Given the description of an element on the screen output the (x, y) to click on. 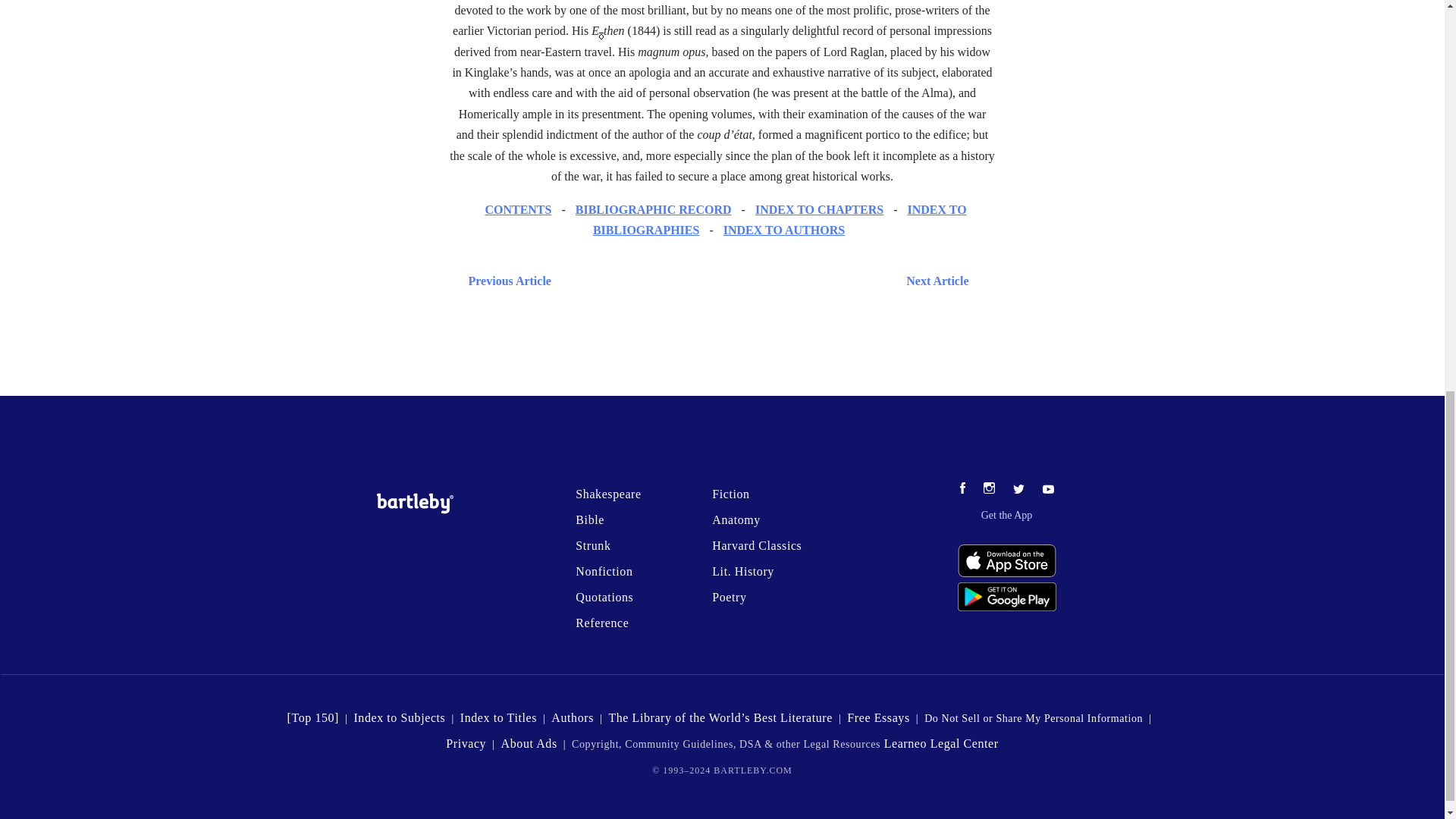
Strunk (592, 545)
Quotations (604, 596)
CONTENTS (517, 209)
Shakespeare (607, 493)
Next Article (767, 281)
Reference (601, 622)
Fiction (730, 493)
BIBLIOGRAPHIC RECORD (653, 209)
INDEX TO BIBLIOGRAPHIES (779, 219)
Nonfiction (603, 571)
Bible (589, 519)
INDEX TO AUTHORS (783, 229)
INDEX TO CHAPTERS (819, 209)
Previous Article (506, 281)
Anatomy (735, 519)
